Given the description of an element on the screen output the (x, y) to click on. 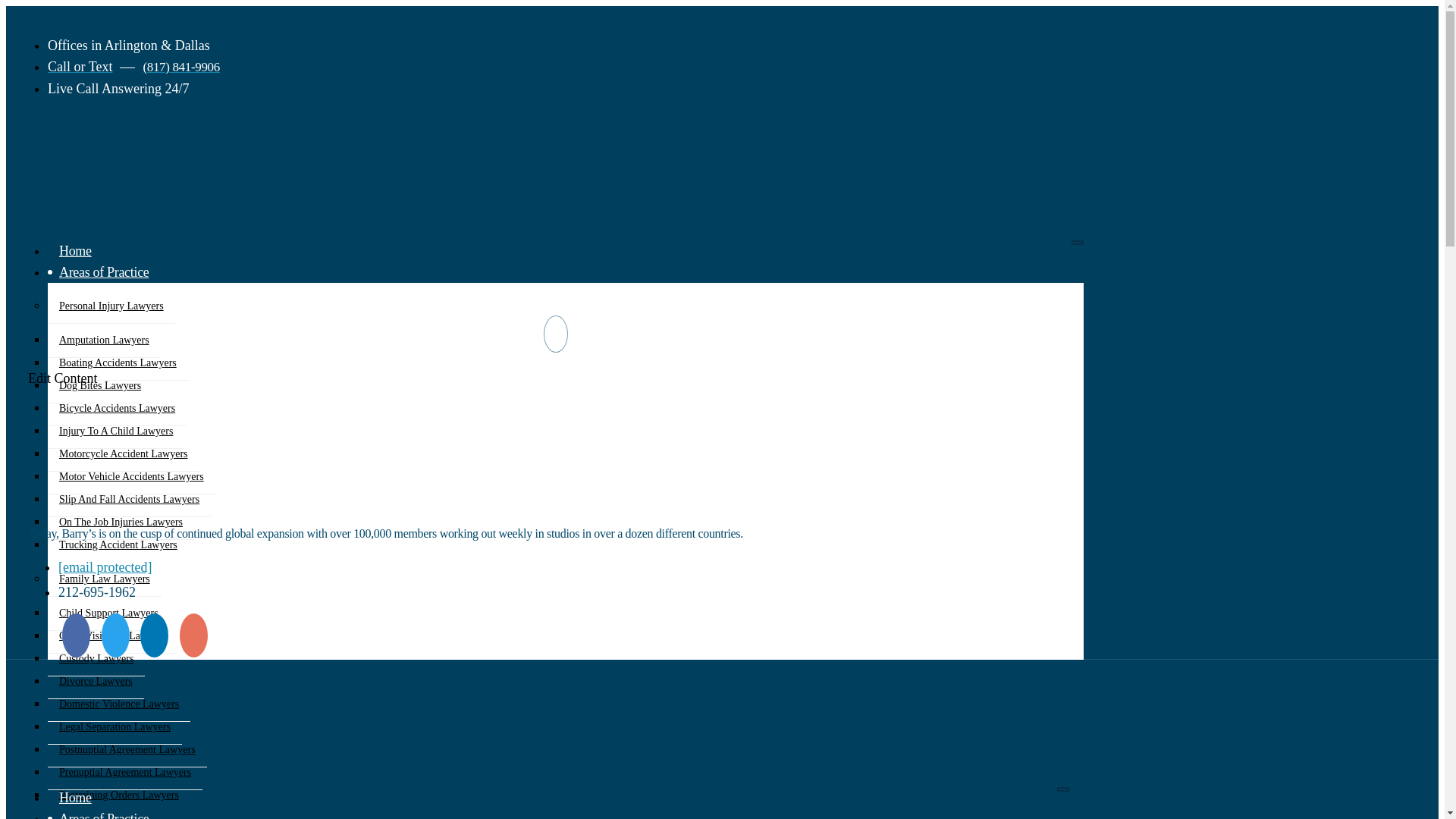
Trucking Accident Lawyers (118, 544)
Prenuptial Agreement Lawyers (125, 772)
Domestic Violence Lawyers (119, 704)
Personal Injury Lawyers (111, 306)
Child Visitation Lawyers (112, 636)
On The Job Injuries Lawyers (120, 522)
Probate And Estate Planning Lawyers (139, 815)
Dog Bites Lawyers (100, 385)
Areas of Practice (104, 272)
Postnuptial Agreement Lawyers (127, 749)
